Given the description of an element on the screen output the (x, y) to click on. 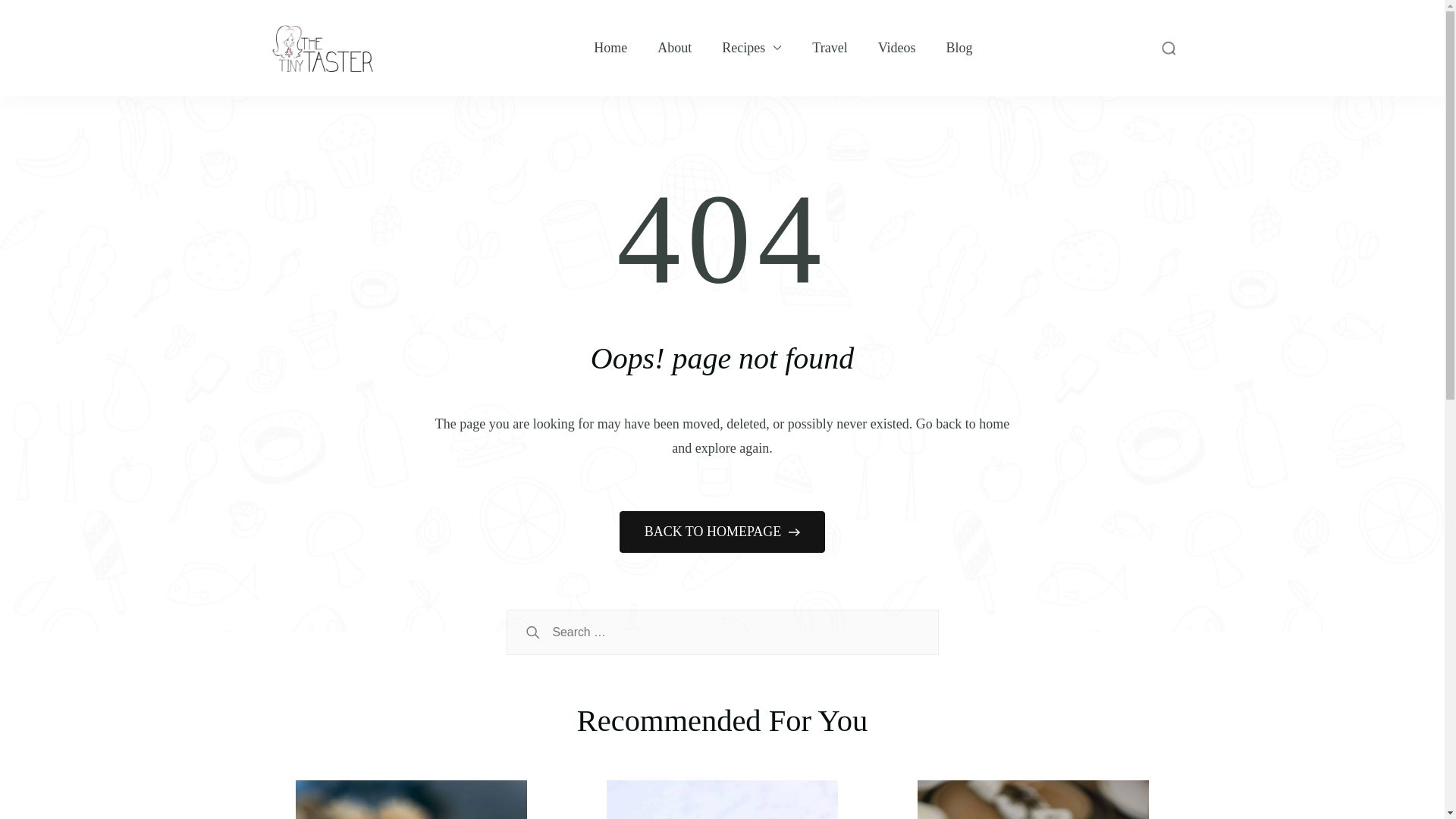
About (674, 47)
Home (610, 47)
Search (532, 631)
Videos (896, 47)
Search (532, 631)
BACK TO HOMEPAGE (722, 531)
Travel (829, 47)
Recipes (743, 47)
Blog (959, 47)
TheTinyTaster (457, 62)
